Given the description of an element on the screen output the (x, y) to click on. 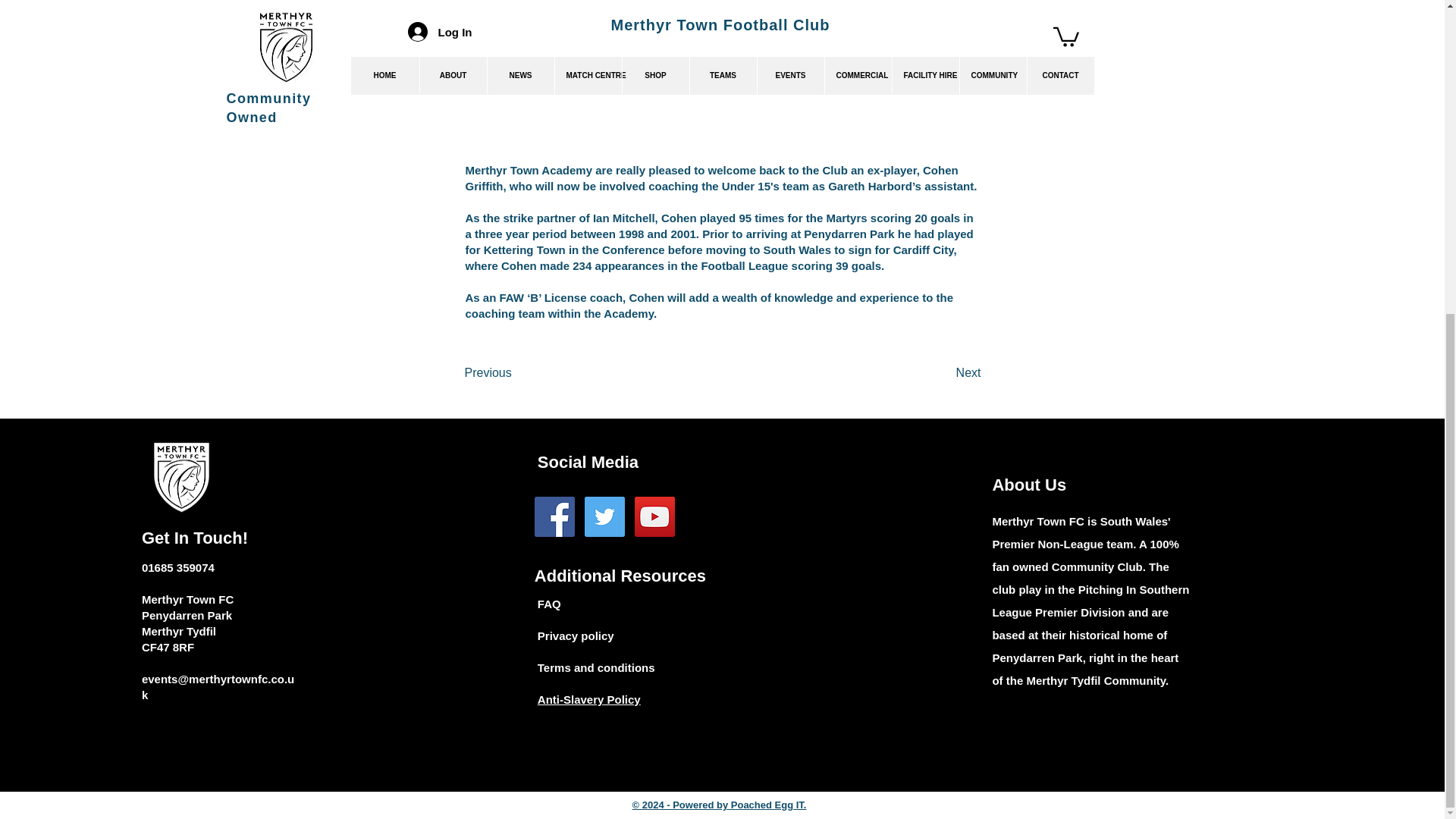
Cohen Griffith.png (720, 72)
Previous (514, 372)
MTFC-badge.jpg (181, 477)
Next (943, 372)
